Given the description of an element on the screen output the (x, y) to click on. 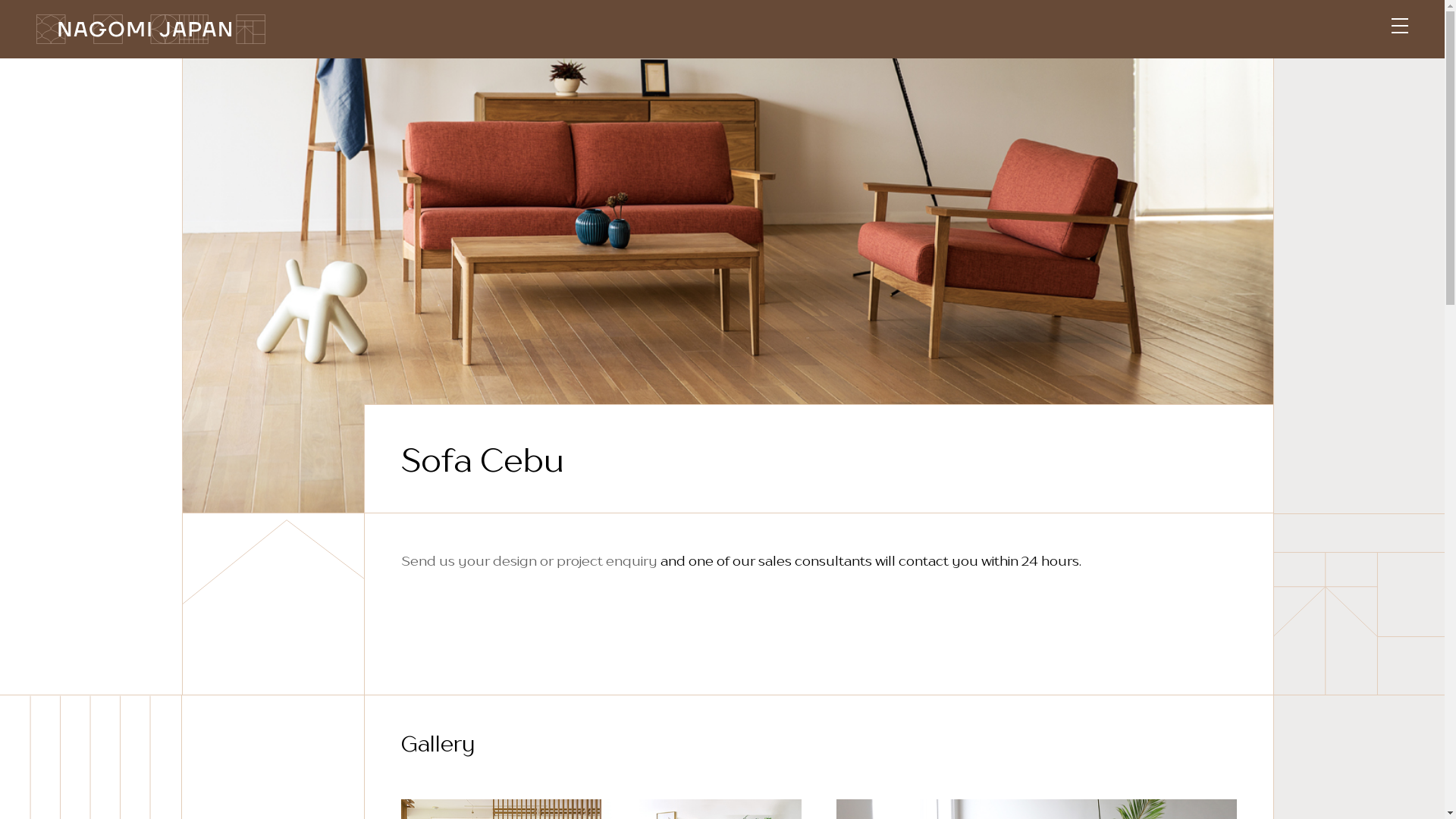
Back to Home Element type: hover (150, 32)
Send us your design or project enquiry Element type: text (529, 561)
cebu_n_3 Element type: hover (727, 285)
